Given the description of an element on the screen output the (x, y) to click on. 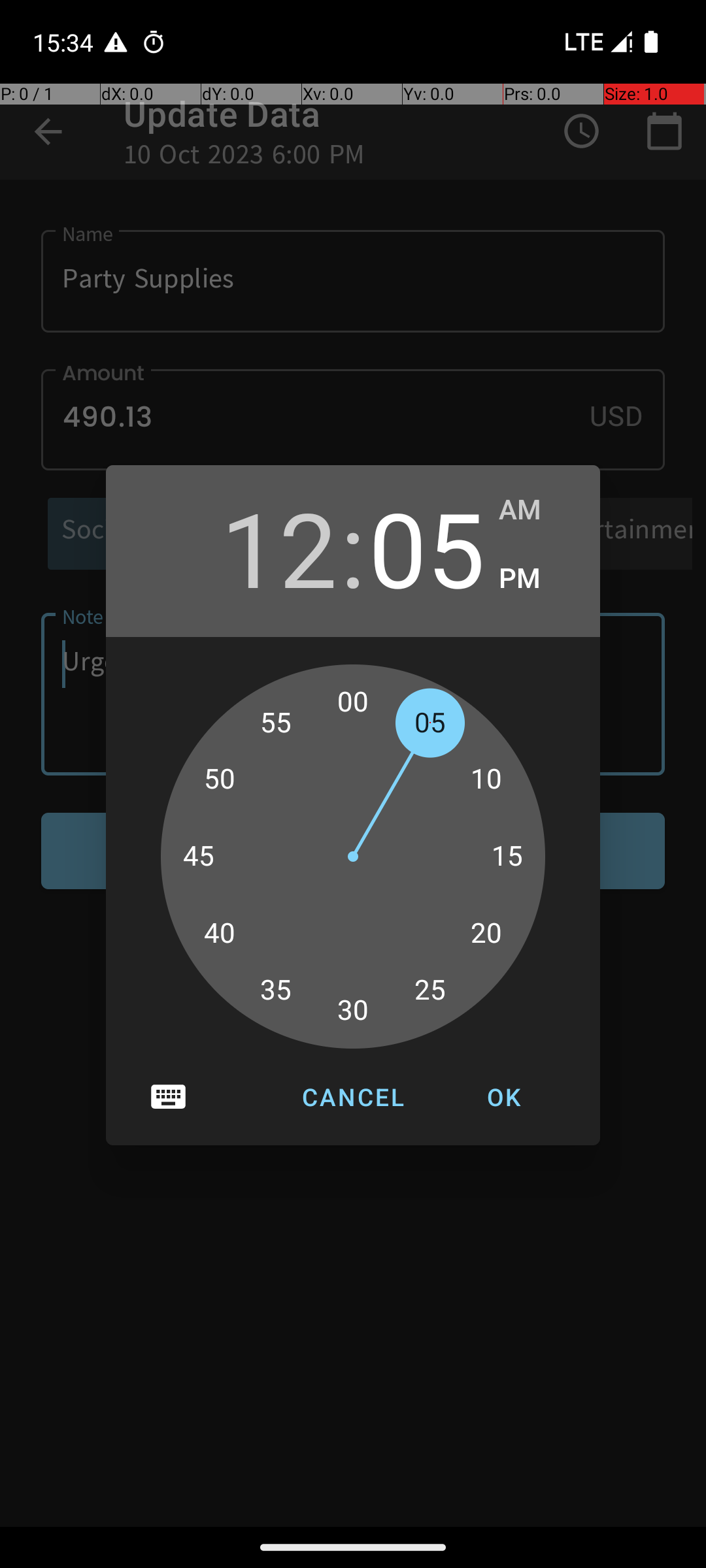
05 Element type: android.widget.TextView (426, 547)
AM Element type: android.widget.RadioButton (535, 510)
PM Element type: android.widget.RadioButton (535, 578)
